Given the description of an element on the screen output the (x, y) to click on. 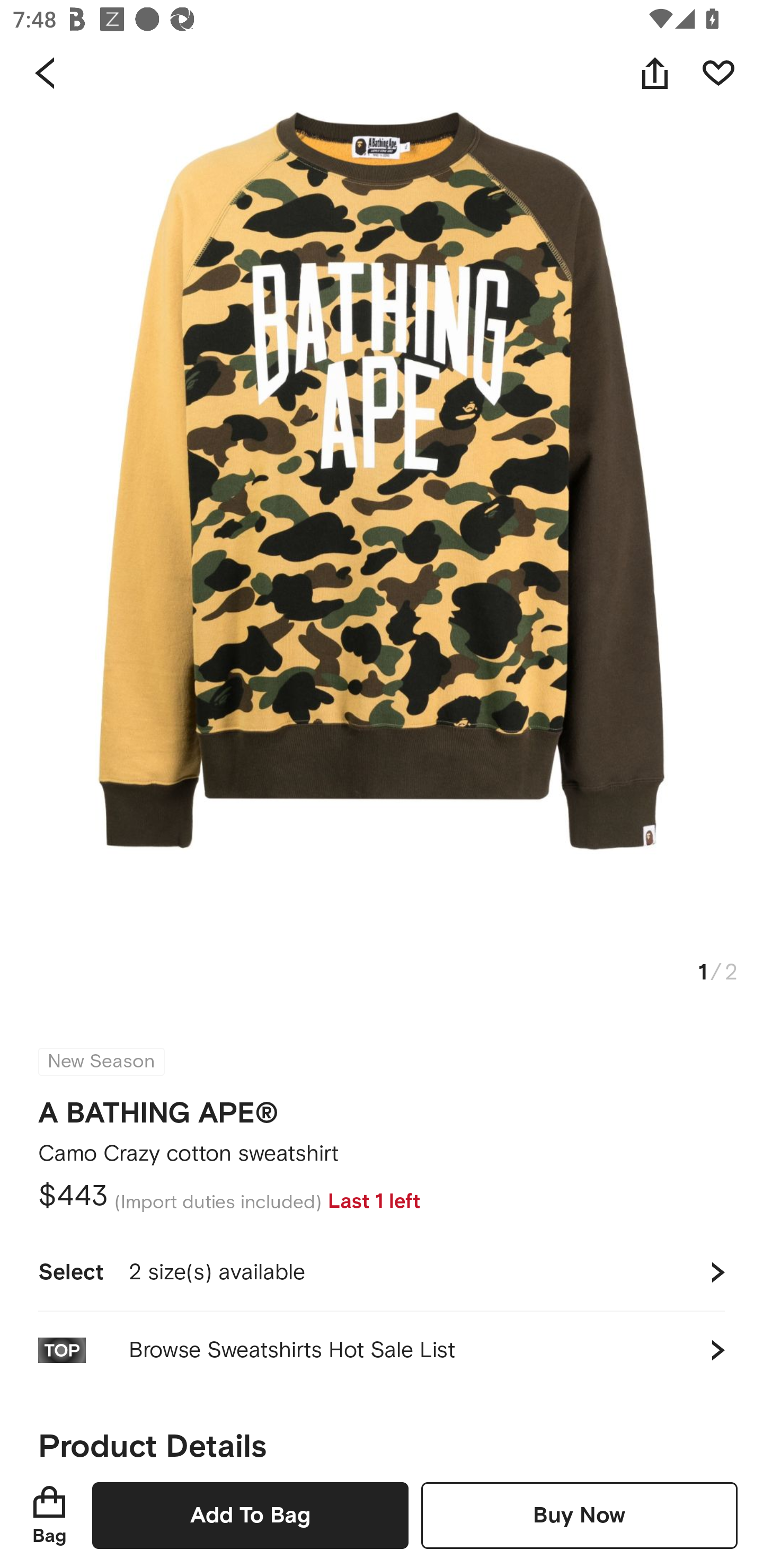
A BATHING APE® (158, 1107)
Select 2 size(s) available (381, 1272)
Browse Sweatshirts Hot Sale List (381, 1349)
Bag (49, 1515)
Add To Bag (250, 1515)
Buy Now (579, 1515)
